Given the description of an element on the screen output the (x, y) to click on. 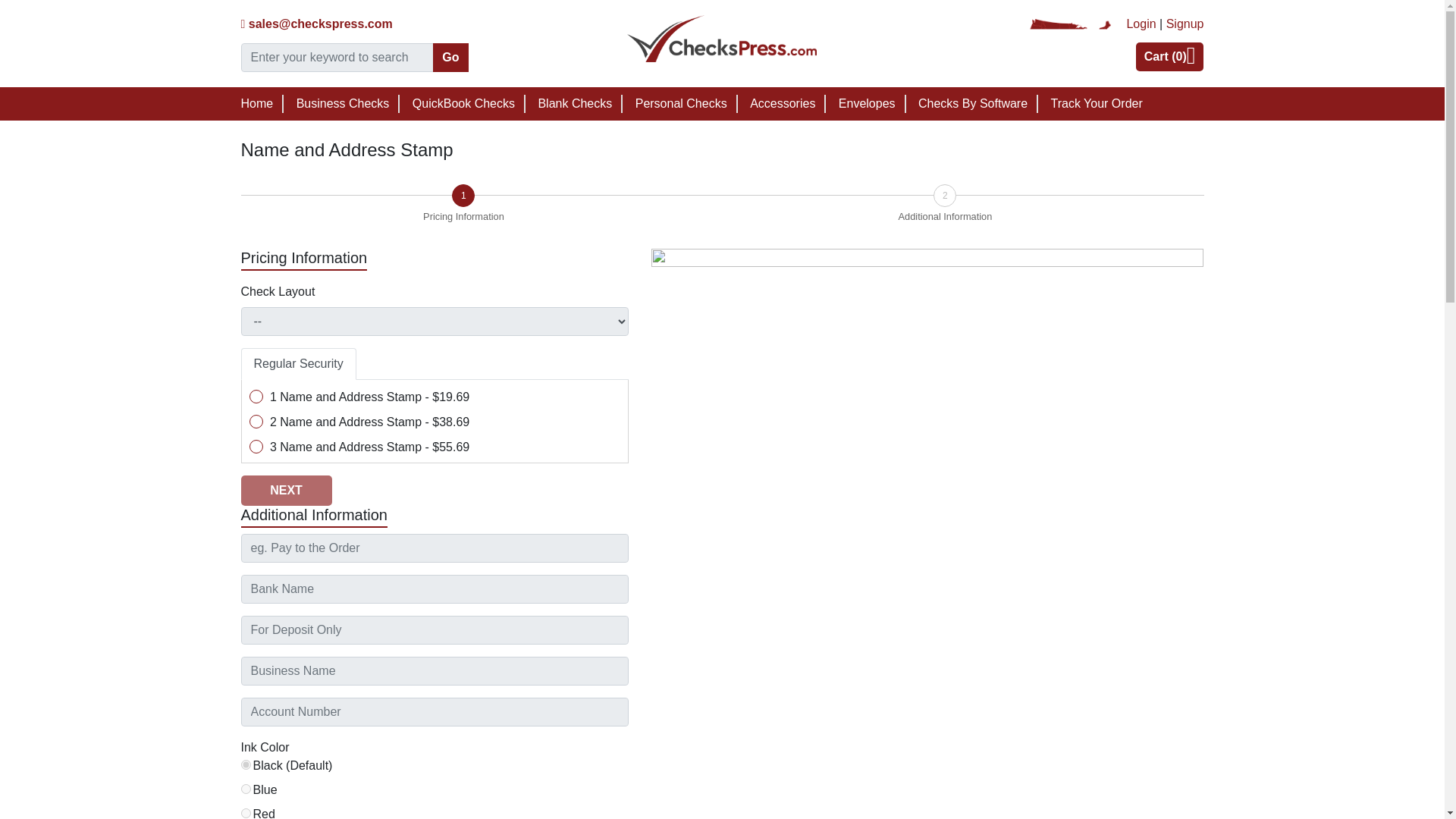
Personal Checks (680, 103)
Signup (1185, 23)
Go (449, 57)
Accessories (782, 103)
black (245, 764)
Home (257, 103)
Blank Checks (574, 103)
Checks By Software (972, 103)
blue (245, 788)
red (245, 813)
